Given the description of an element on the screen output the (x, y) to click on. 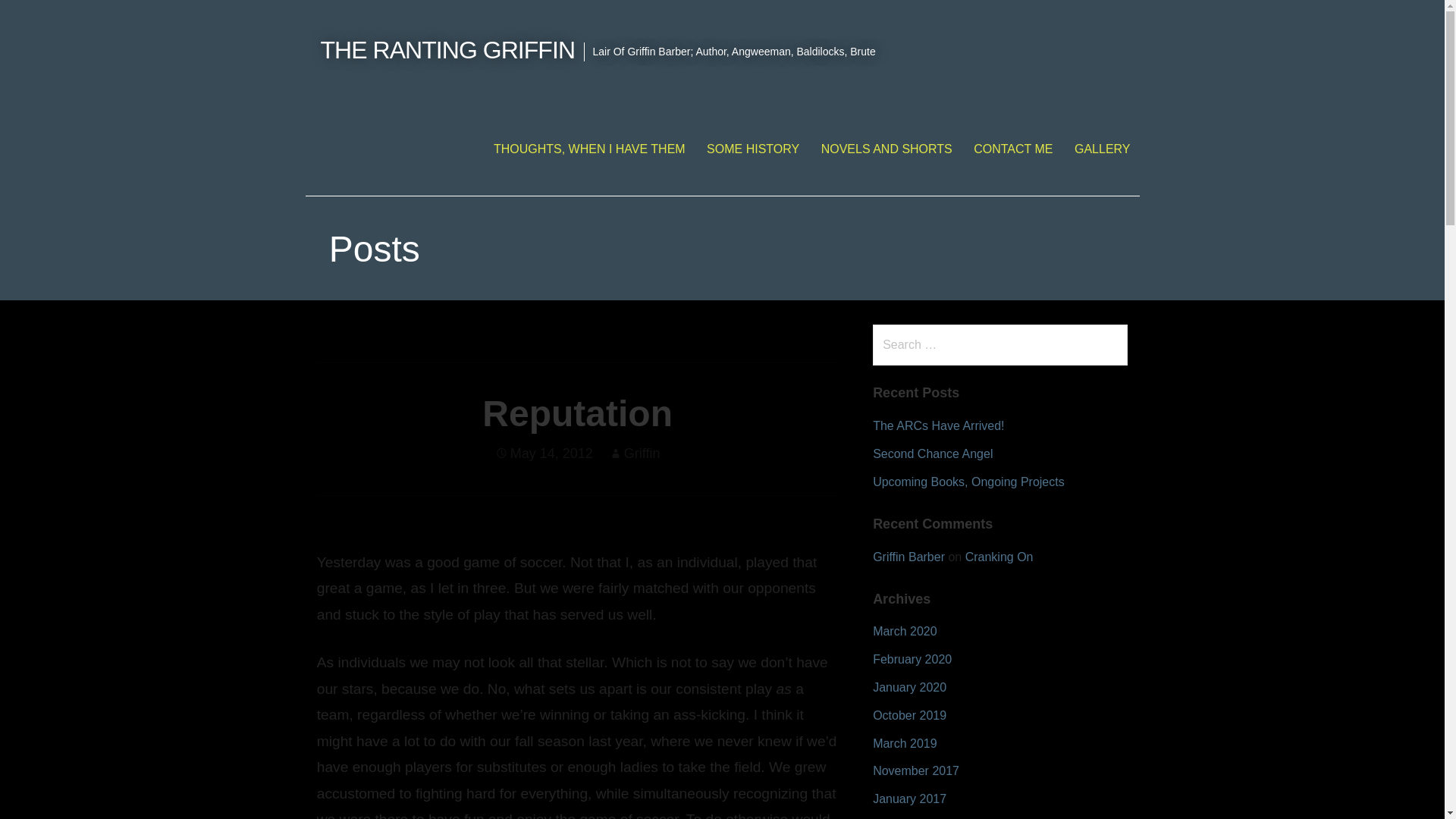
The ARCs Have Arrived! (938, 425)
March 2020 (904, 631)
Griffin (642, 453)
Second Chance Angel (932, 453)
January 2017 (909, 798)
January 2020 (909, 686)
Upcoming Books, Ongoing Projects (968, 481)
CONTACT ME (1012, 148)
Posts by Griffin (642, 453)
Search (42, 18)
March 2019 (904, 743)
NOVELS AND SHORTS (886, 148)
October 2019 (909, 715)
Griffin Barber (908, 556)
SOME HISTORY (752, 148)
